Given the description of an element on the screen output the (x, y) to click on. 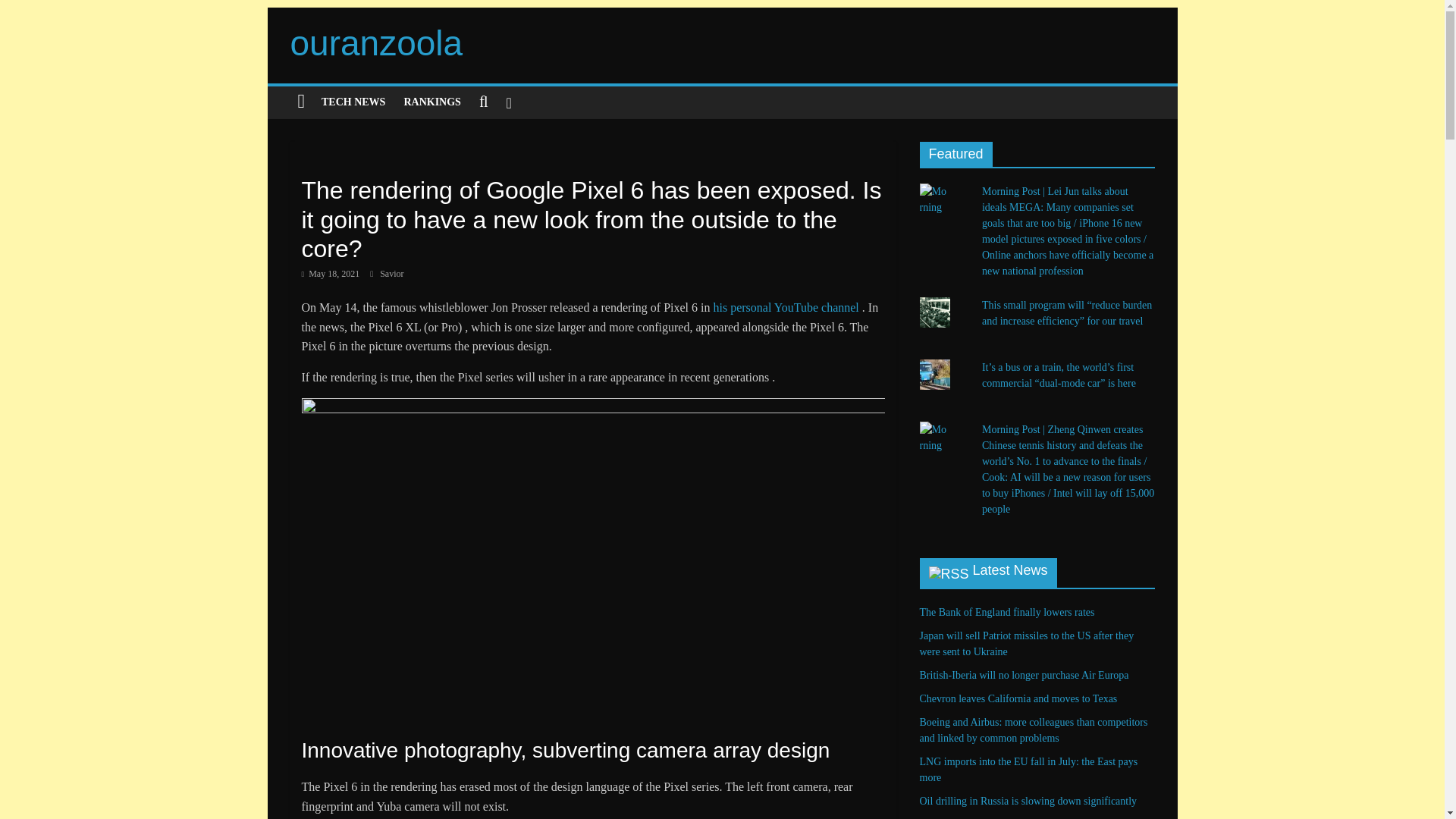
RANKINGS (431, 101)
The Bank of England finally lowers rates (1006, 612)
Savior (391, 273)
Latest News (1010, 570)
May 18, 2021 (330, 273)
ouranzoola (376, 43)
1:27 pm (330, 273)
Savior (391, 273)
ouranzoola (376, 43)
LNG imports into the EU fall in July: the East pays more (1027, 768)
his personal YouTube channel (786, 307)
Oil drilling in Russia is slowing down significantly (1027, 800)
Chevron leaves California and moves to Texas (1017, 698)
